Given the description of an element on the screen output the (x, y) to click on. 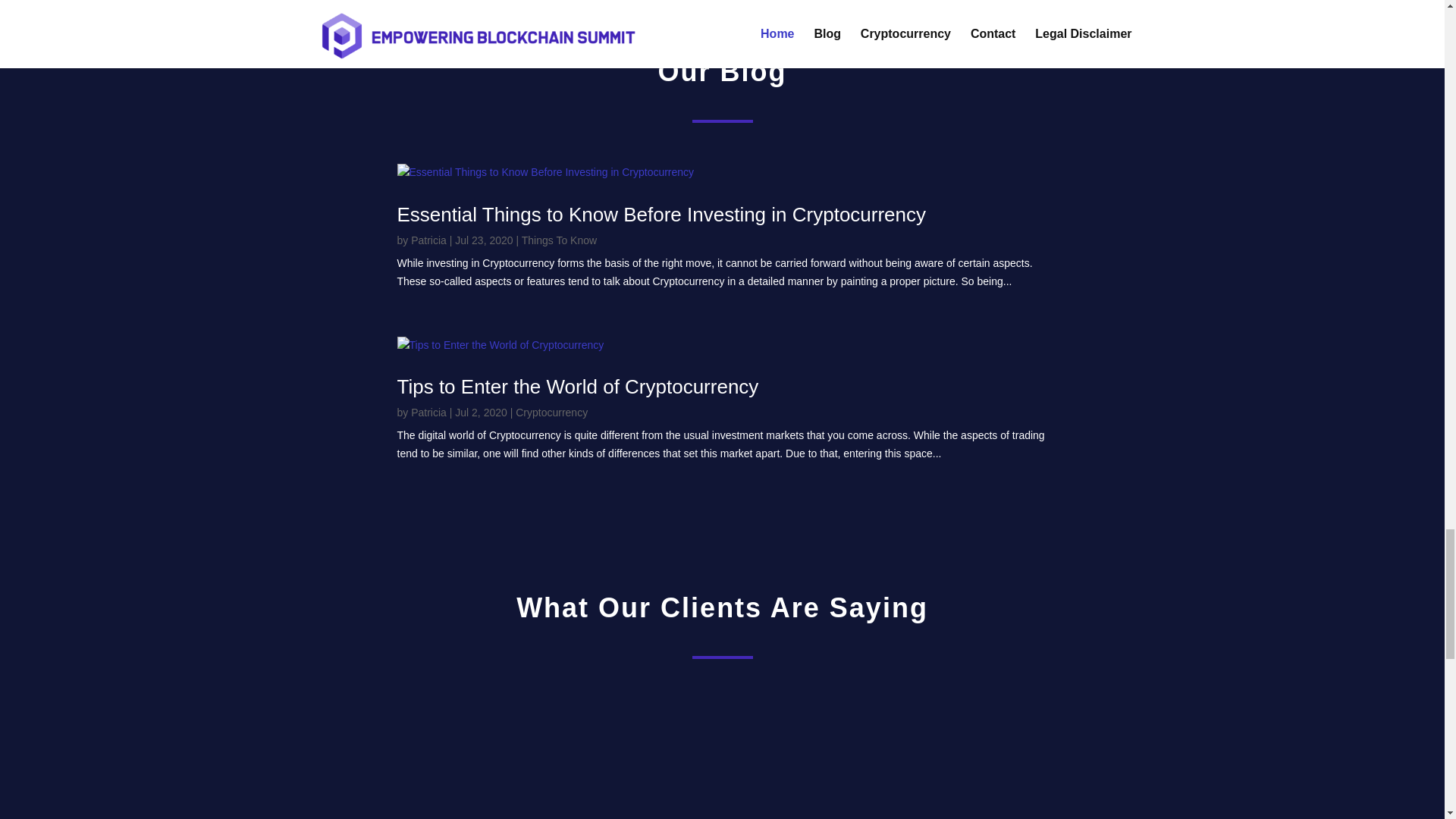
Tips to Enter the World of Cryptocurrency (577, 386)
Cryptocurrency (551, 412)
Patricia (428, 240)
Posts by Patricia (428, 412)
Patricia (428, 412)
Essential Things to Know Before Investing in Cryptocurrency (661, 214)
Posts by Patricia (428, 240)
Things To Know (558, 240)
